Given the description of an element on the screen output the (x, y) to click on. 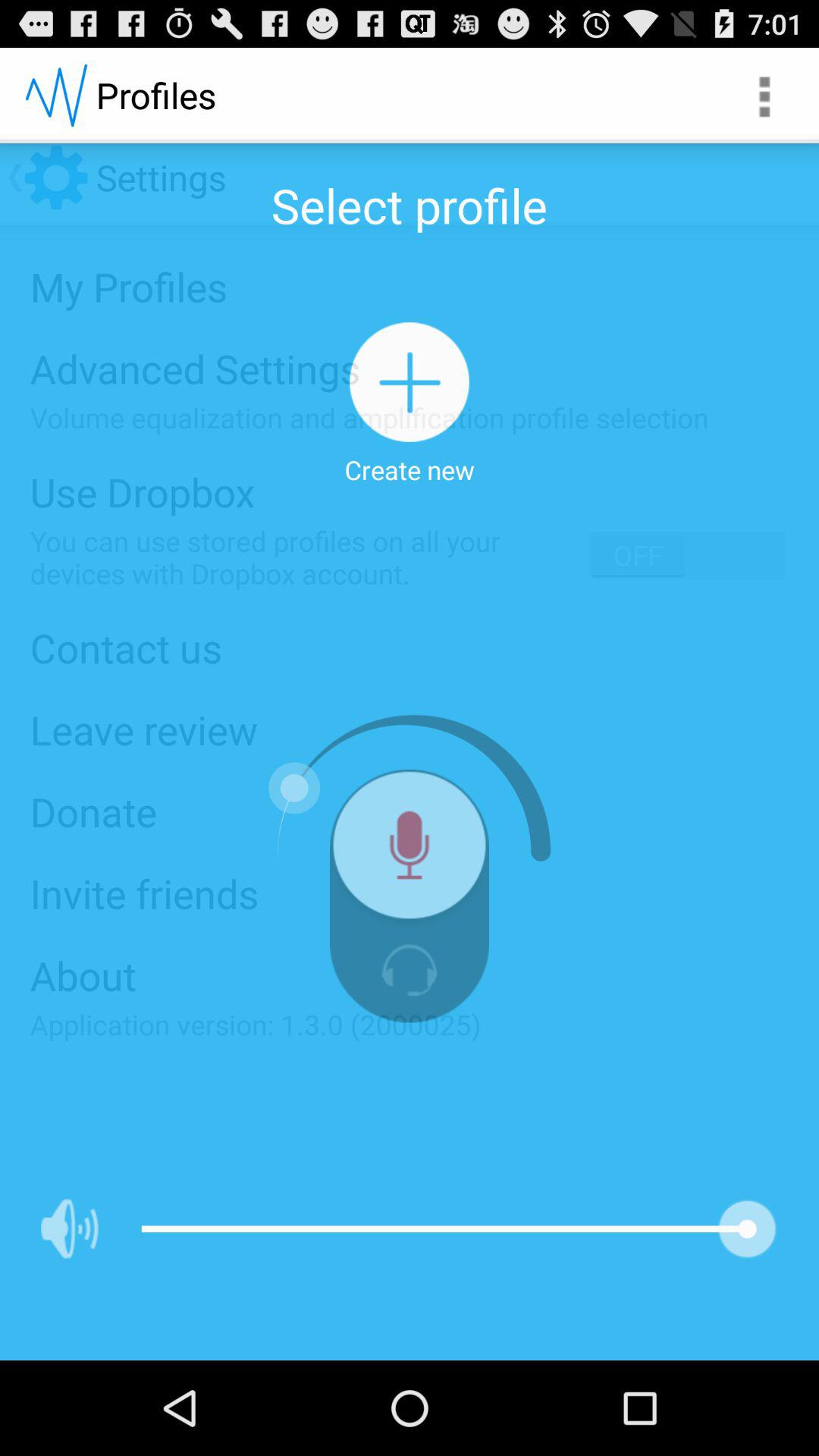
turn on the app next to the profiles (763, 95)
